Given the description of an element on the screen output the (x, y) to click on. 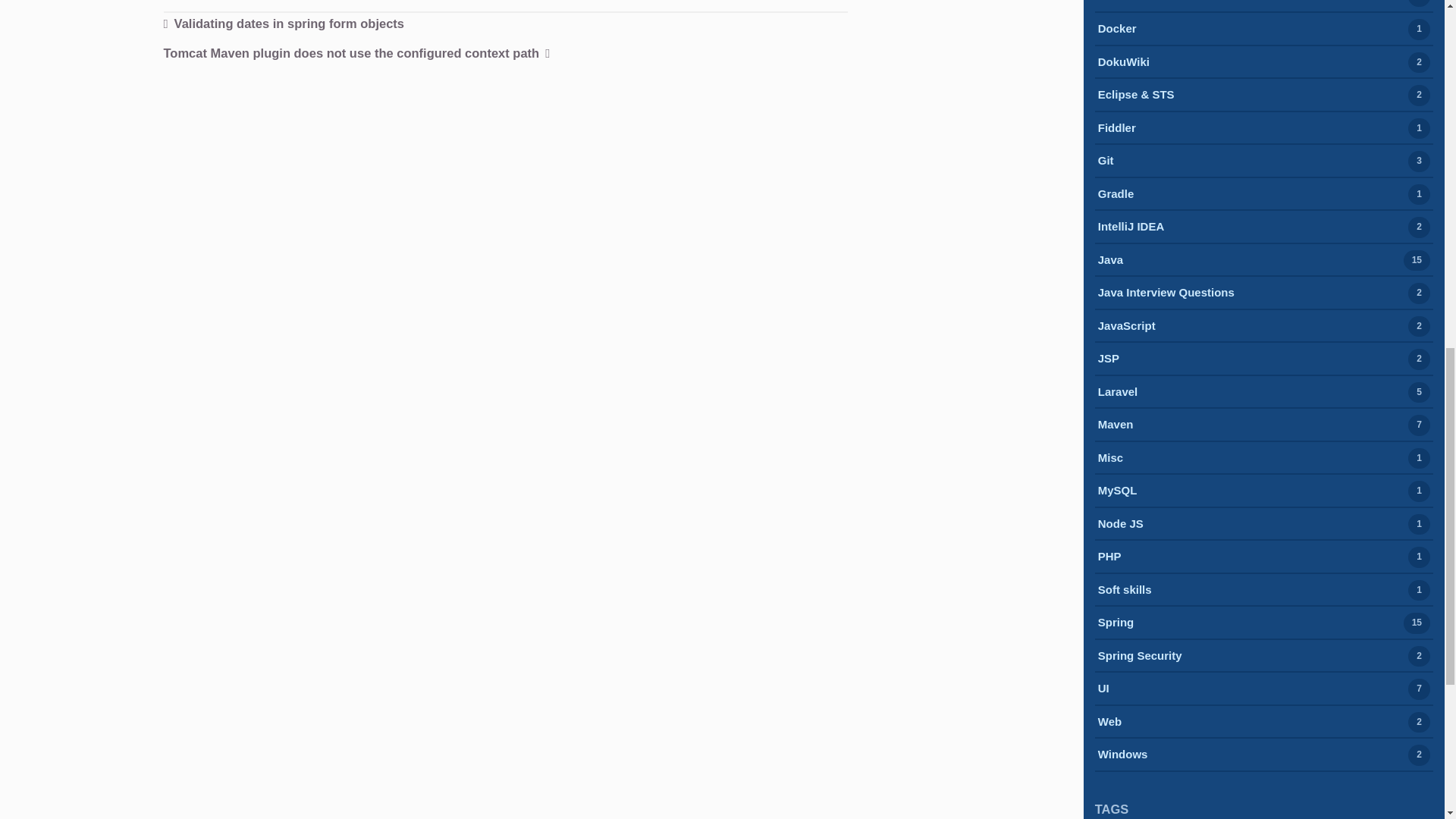
Validating dates in spring form objects (283, 24)
Tomcat Maven plugin does not use the configured context path (356, 54)
